Given the description of an element on the screen output the (x, y) to click on. 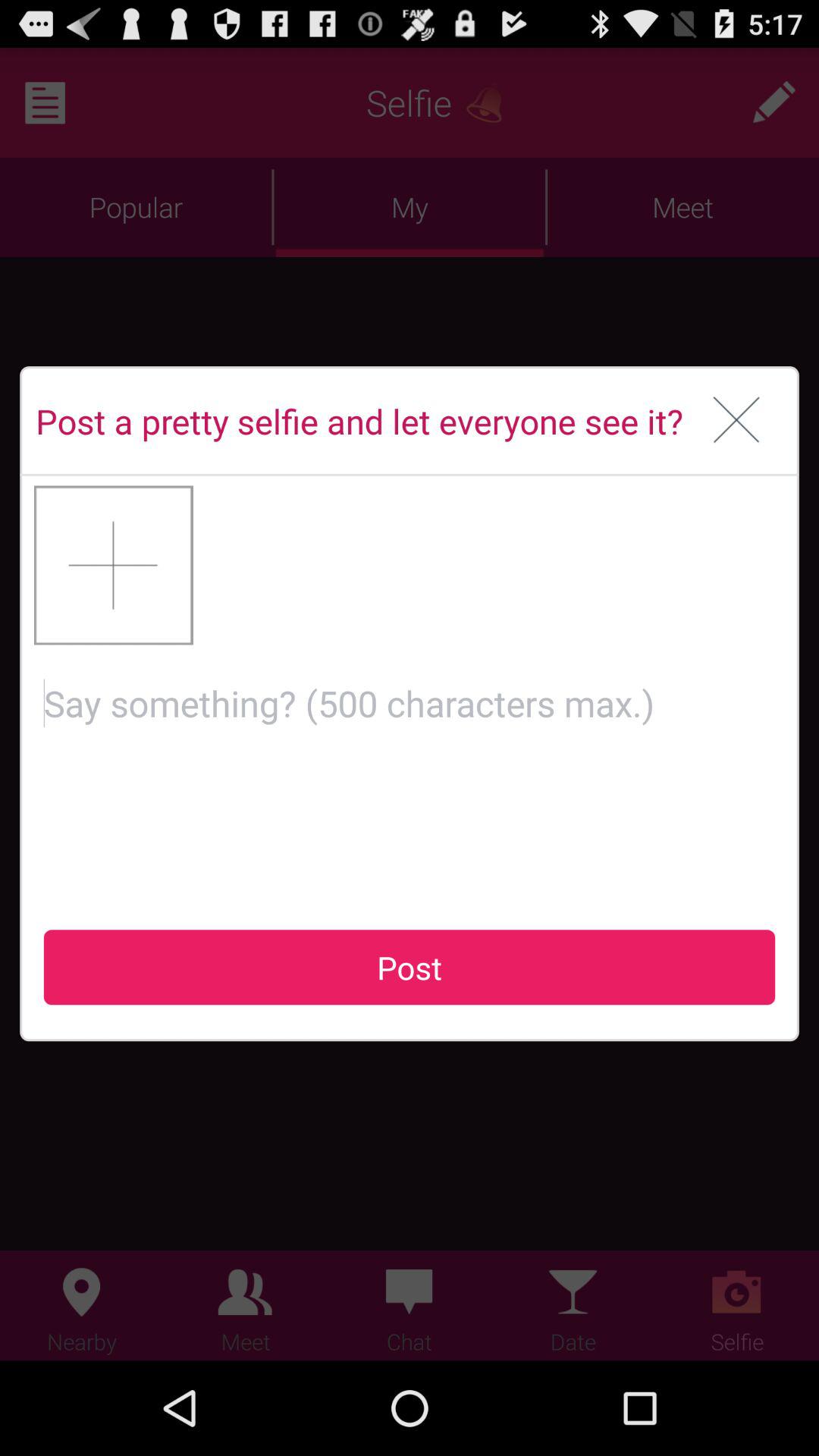
close pop up box (736, 421)
